Given the description of an element on the screen output the (x, y) to click on. 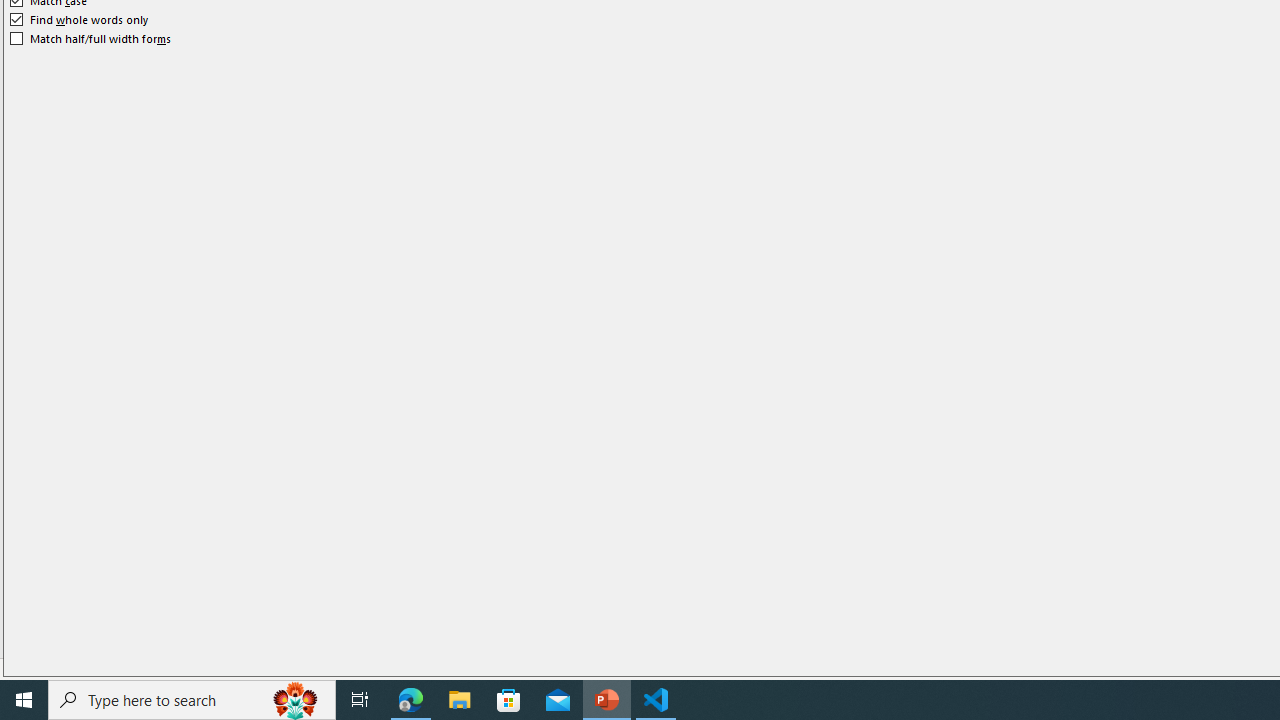
Find whole words only (79, 20)
Match half/full width forms (91, 38)
